Given the description of an element on the screen output the (x, y) to click on. 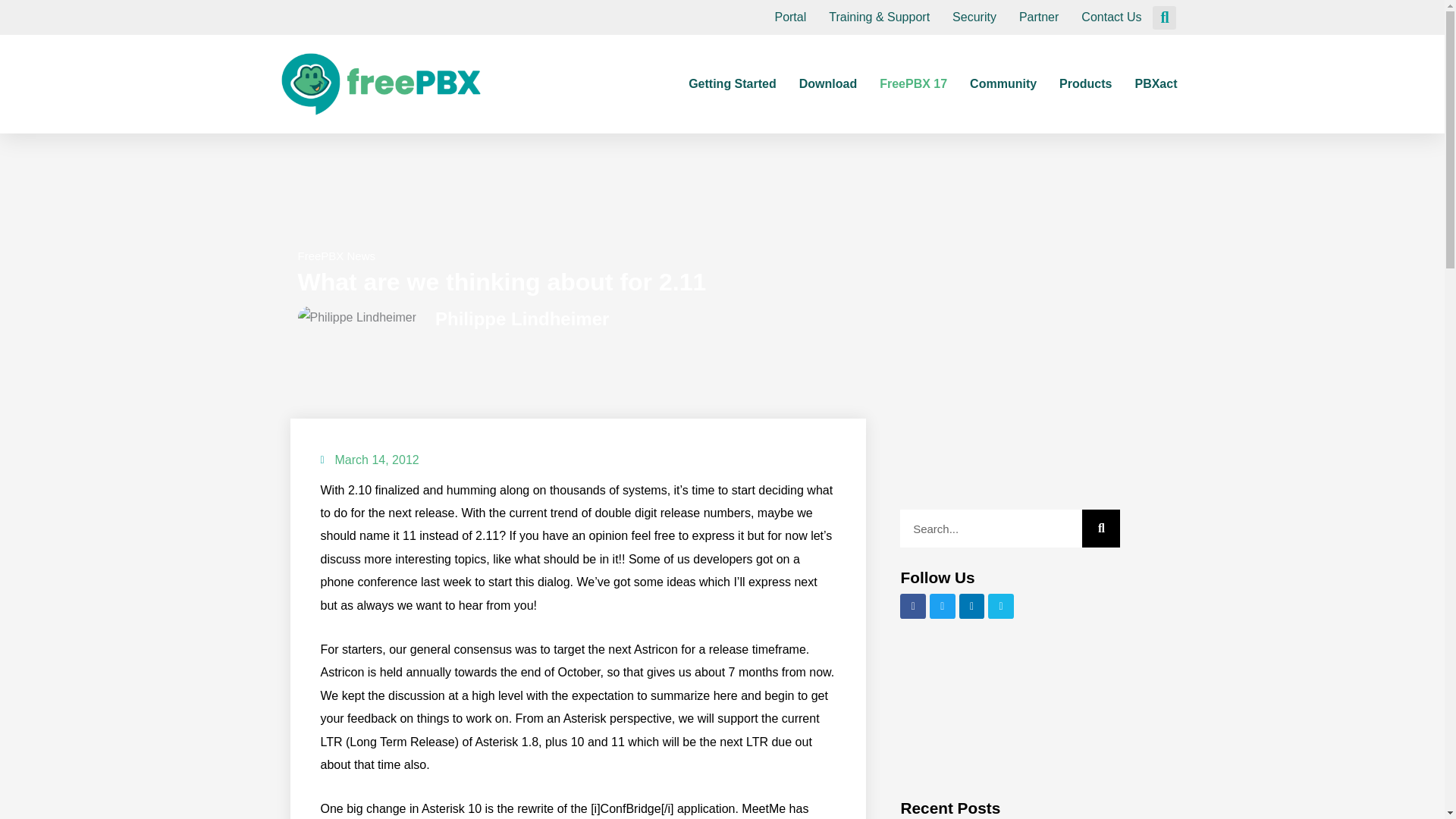
Products (1085, 83)
Portal (789, 17)
PBXact (1155, 83)
FreePBX 17 (913, 83)
Contact Us (1111, 17)
Community (1002, 83)
Download (828, 83)
Partner (1038, 17)
Security (973, 17)
Getting Started (732, 83)
